Given the description of an element on the screen output the (x, y) to click on. 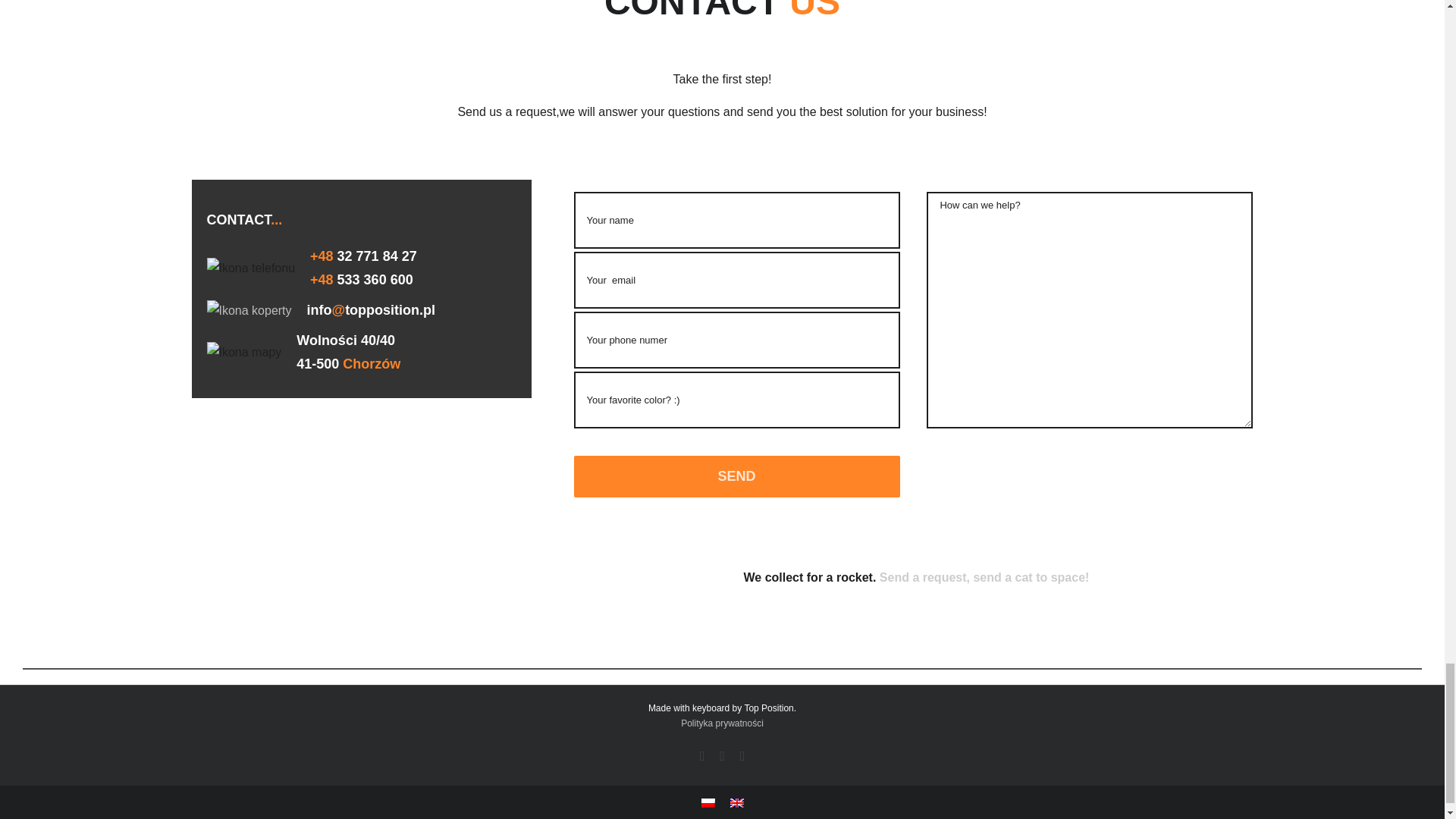
SEND (736, 476)
SEND (736, 476)
